Given the description of an element on the screen output the (x, y) to click on. 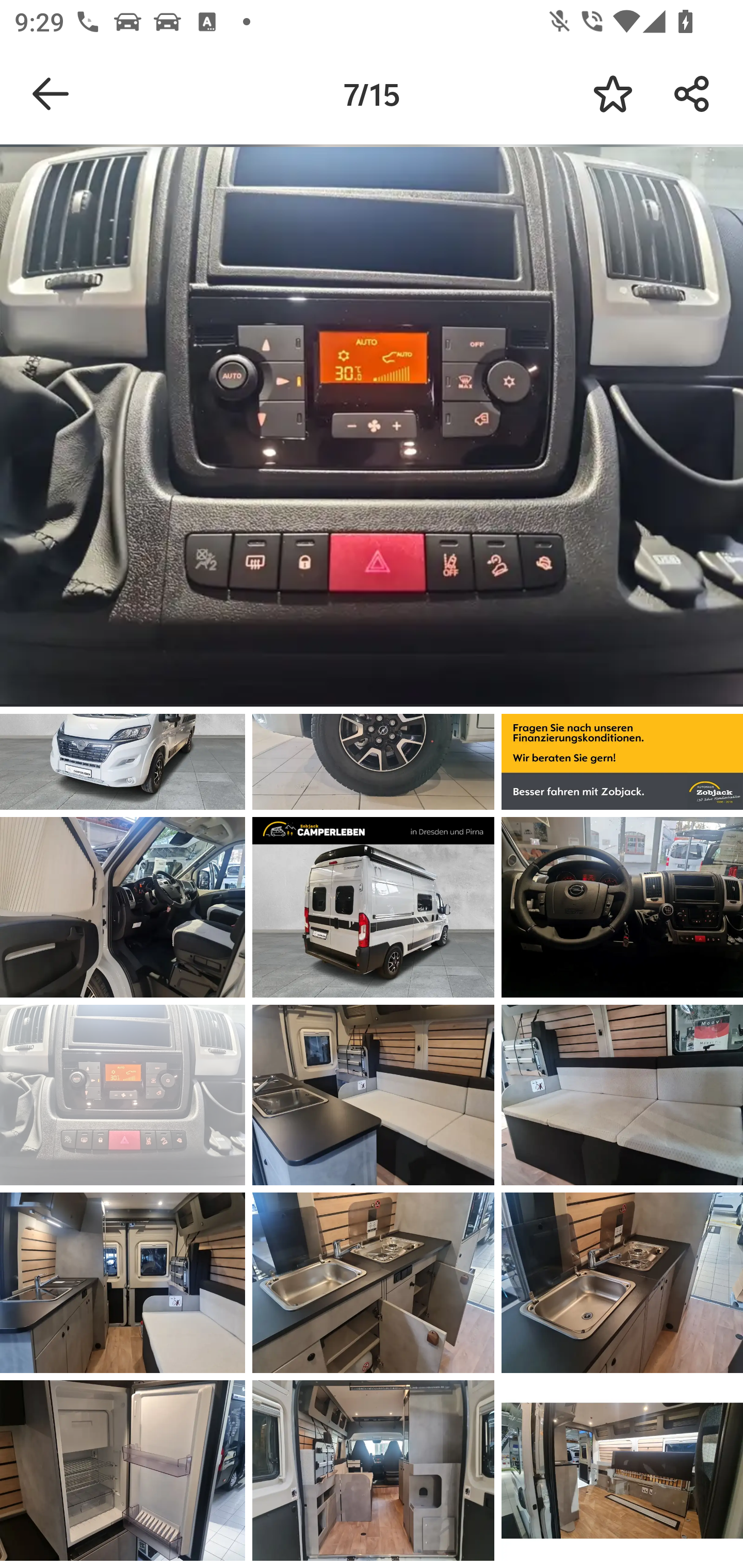
back button (50, 93)
share button (692, 93)
main image view (371, 428)
image (122, 906)
image (373, 906)
image (622, 906)
image (122, 1095)
image (373, 1095)
image (622, 1095)
image (122, 1283)
image (373, 1283)
image (622, 1283)
image (122, 1469)
image (373, 1469)
image (622, 1469)
